Given the description of an element on the screen output the (x, y) to click on. 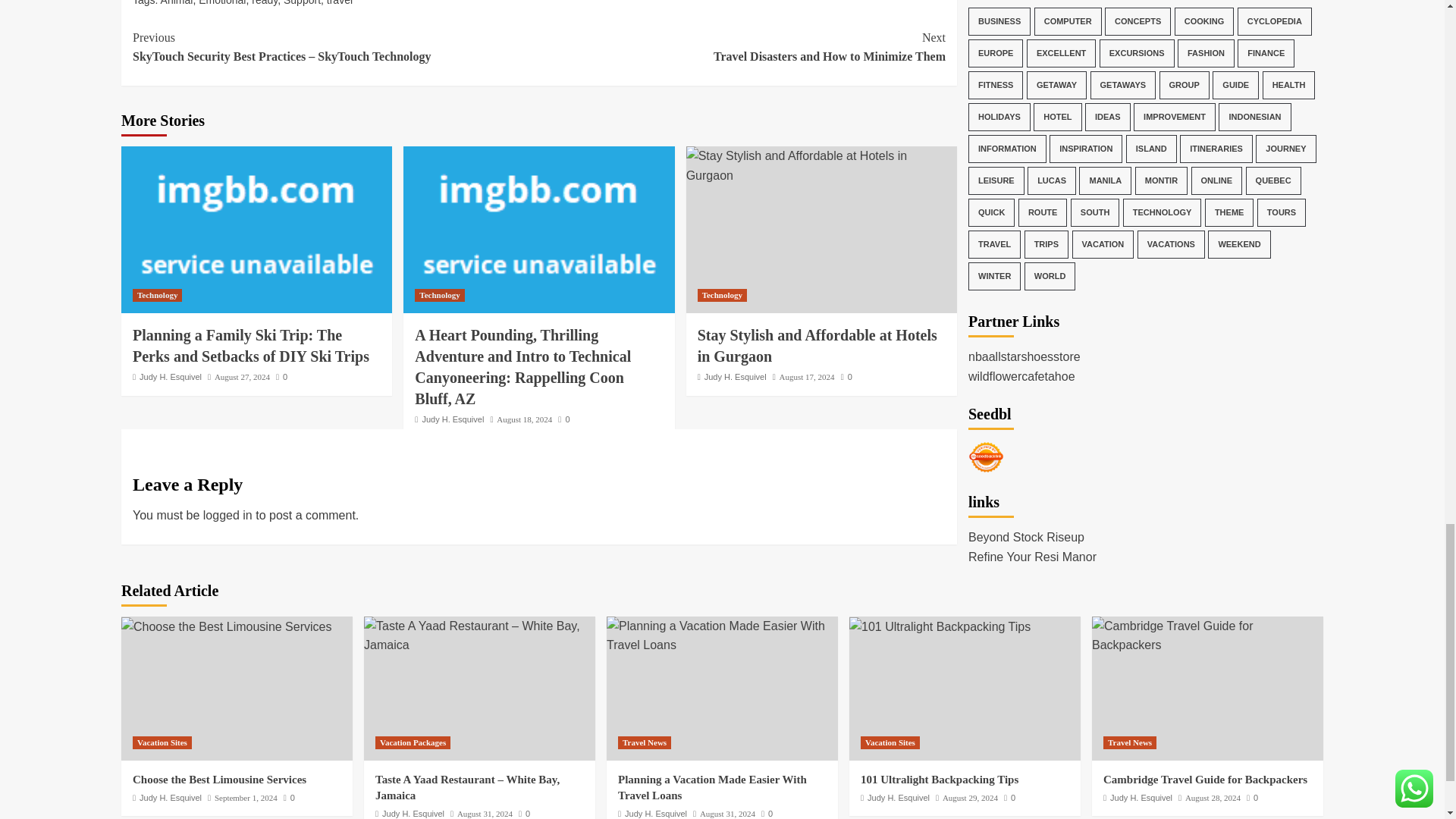
Emotional (222, 2)
Support (301, 2)
travel (741, 46)
Stay Stylish and Affordable at Hotels in Gurgaon (339, 2)
Animal (820, 165)
ready (176, 2)
